Given the description of an element on the screen output the (x, y) to click on. 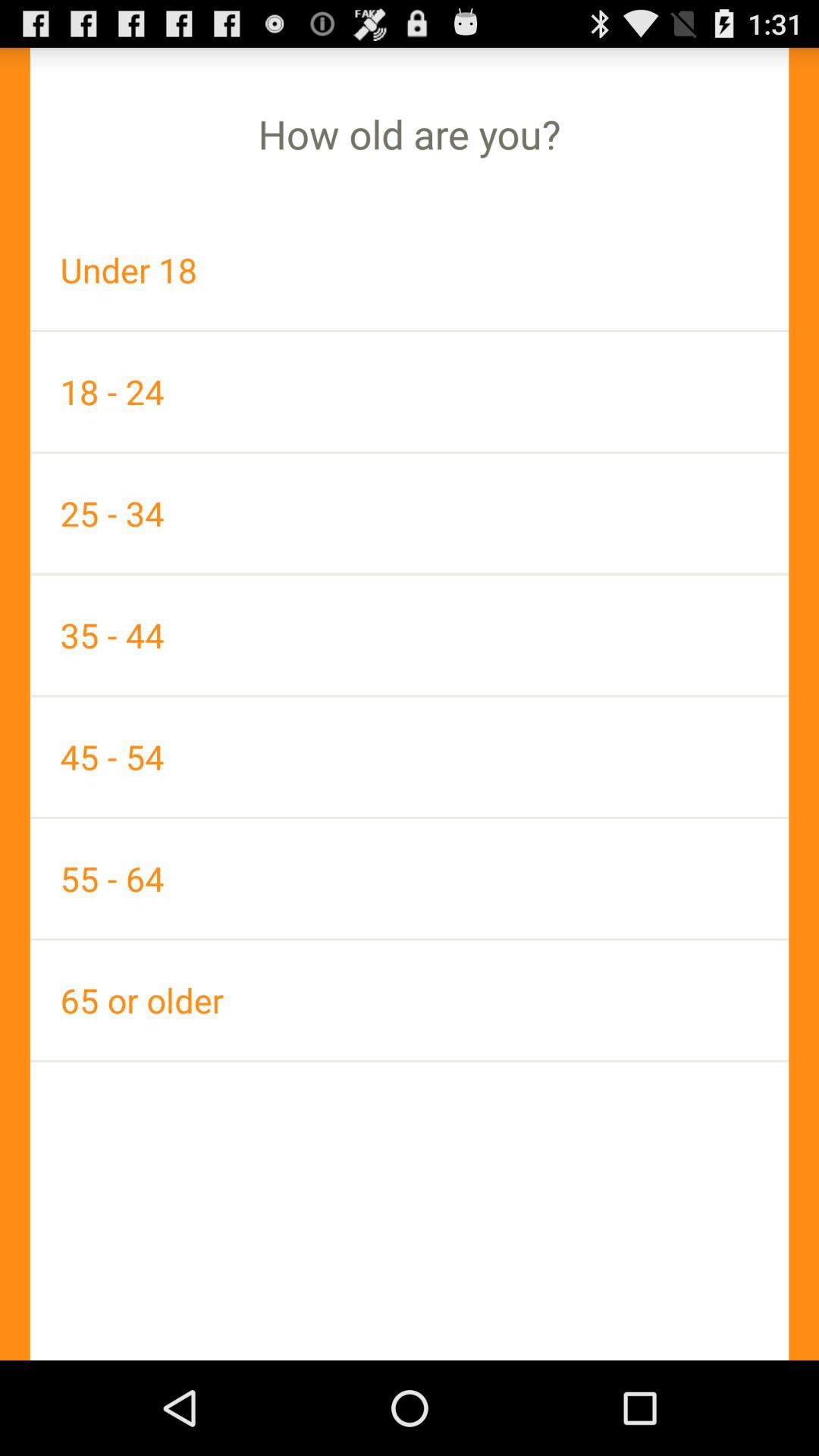
tap the item above 55 - 64 icon (409, 756)
